Given the description of an element on the screen output the (x, y) to click on. 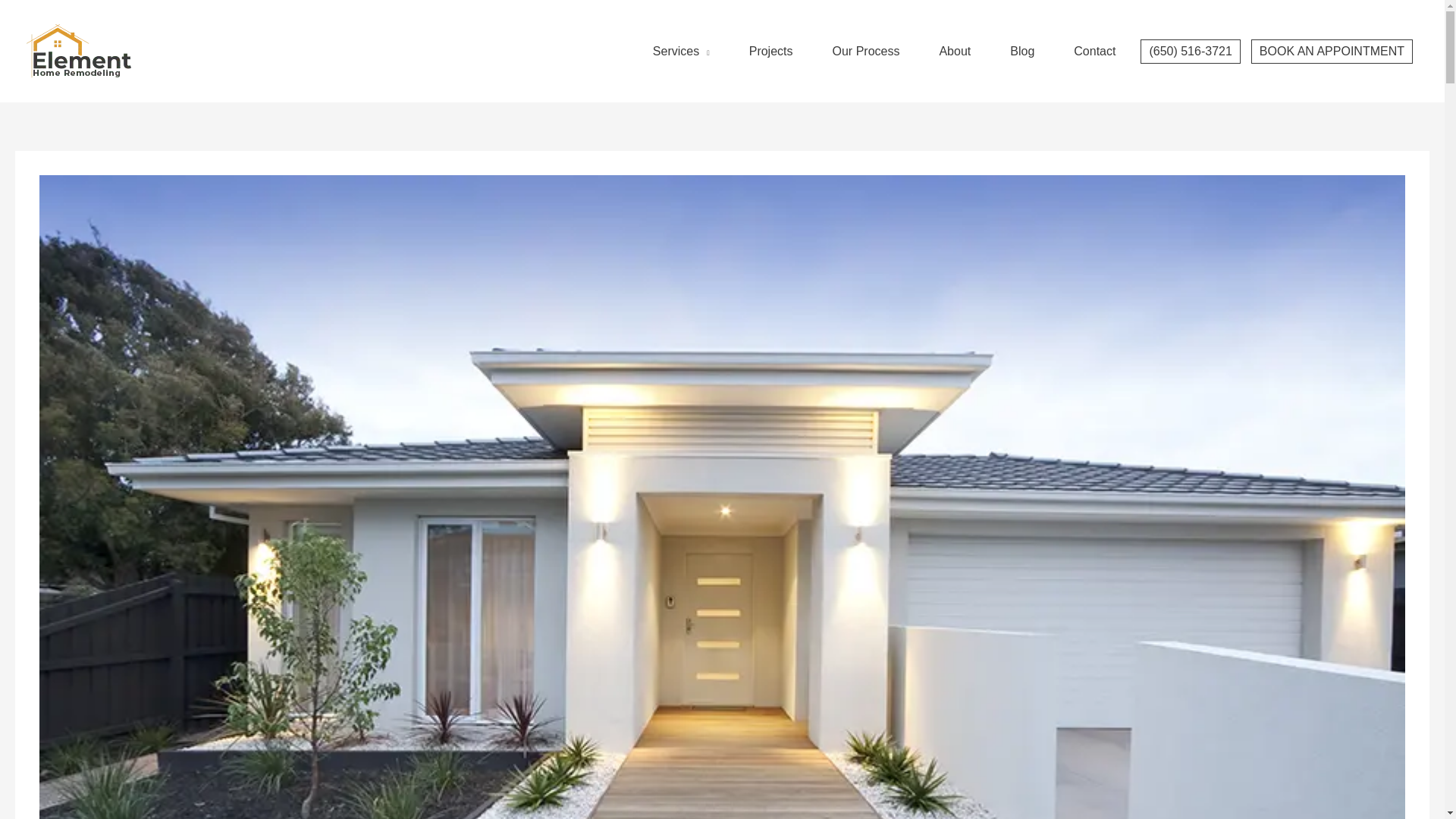
About us  (954, 51)
Contact us  (1093, 51)
Our Process (866, 51)
Blog (1021, 51)
Projects (770, 51)
Services (681, 51)
About (954, 51)
Contact (1093, 51)
BOOK AN APPOINTMENT (1331, 51)
